Given the description of an element on the screen output the (x, y) to click on. 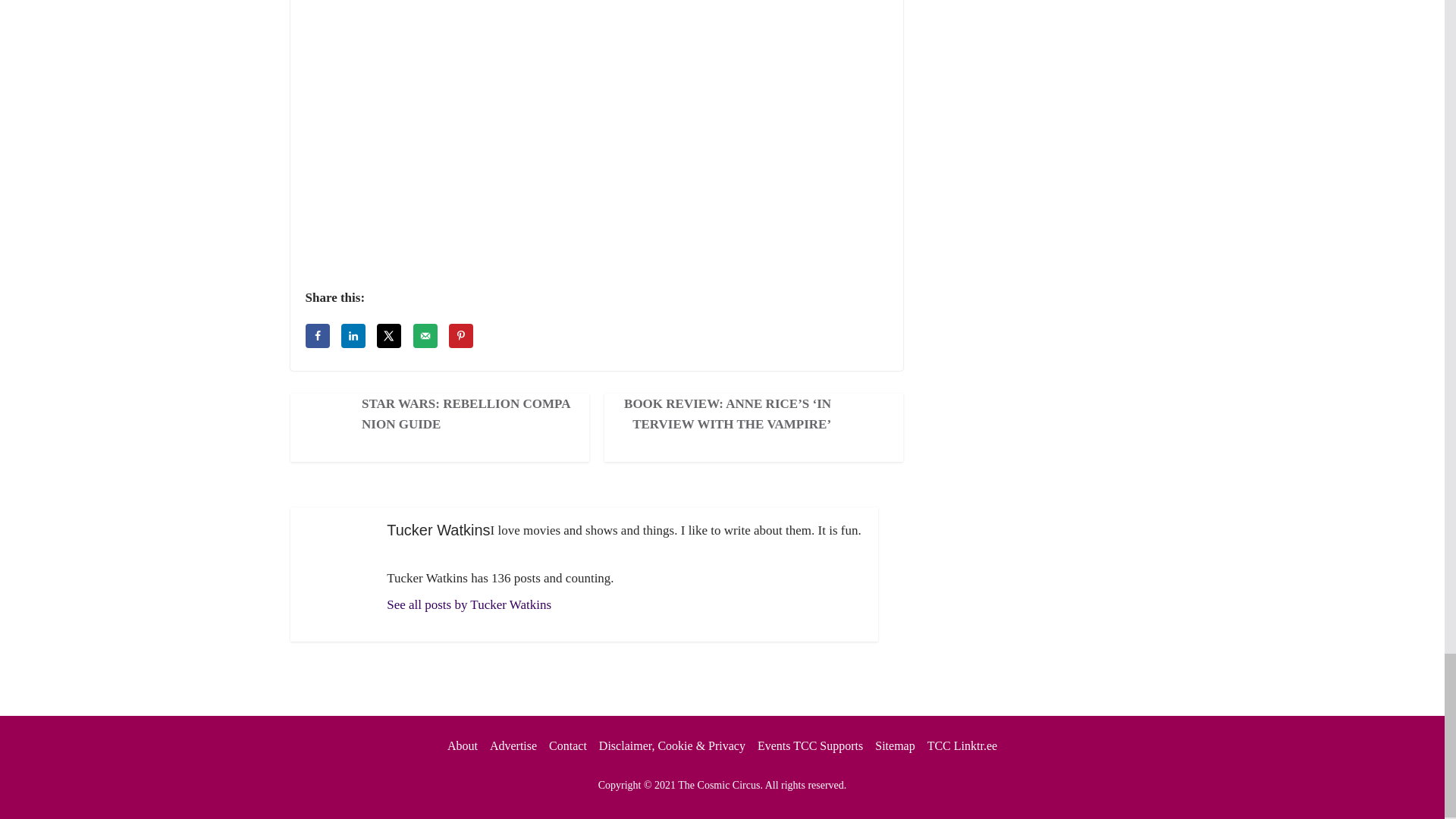
Share on X (389, 335)
Save to Pinterest (460, 335)
Share on LinkedIn (352, 335)
Send over email (425, 335)
Share on Facebook (316, 335)
